Given the description of an element on the screen output the (x, y) to click on. 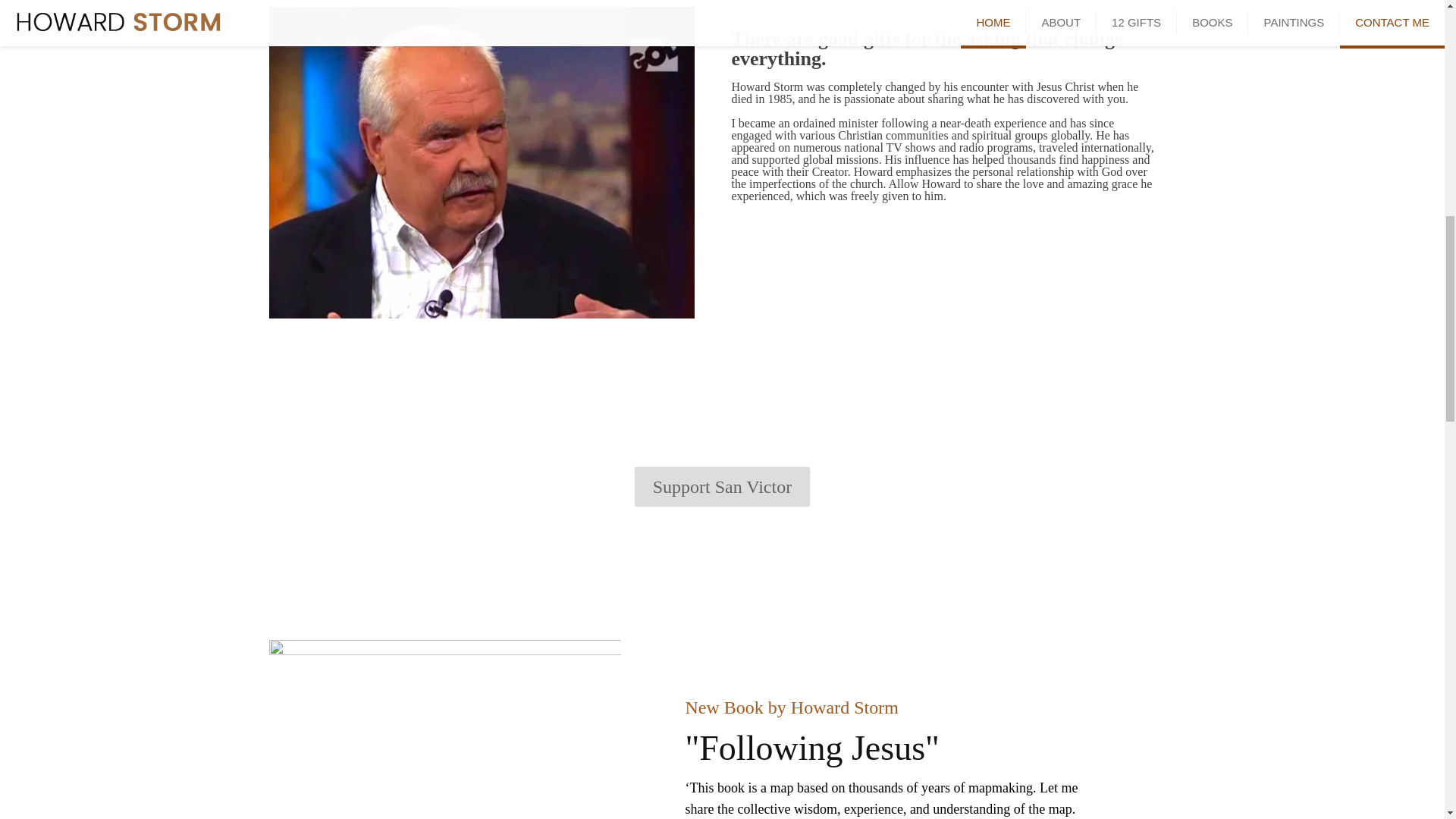
Support San Victor (707, 483)
New Book by Howard Storm (791, 707)
"Following Jesus" (812, 747)
